Given the description of an element on the screen output the (x, y) to click on. 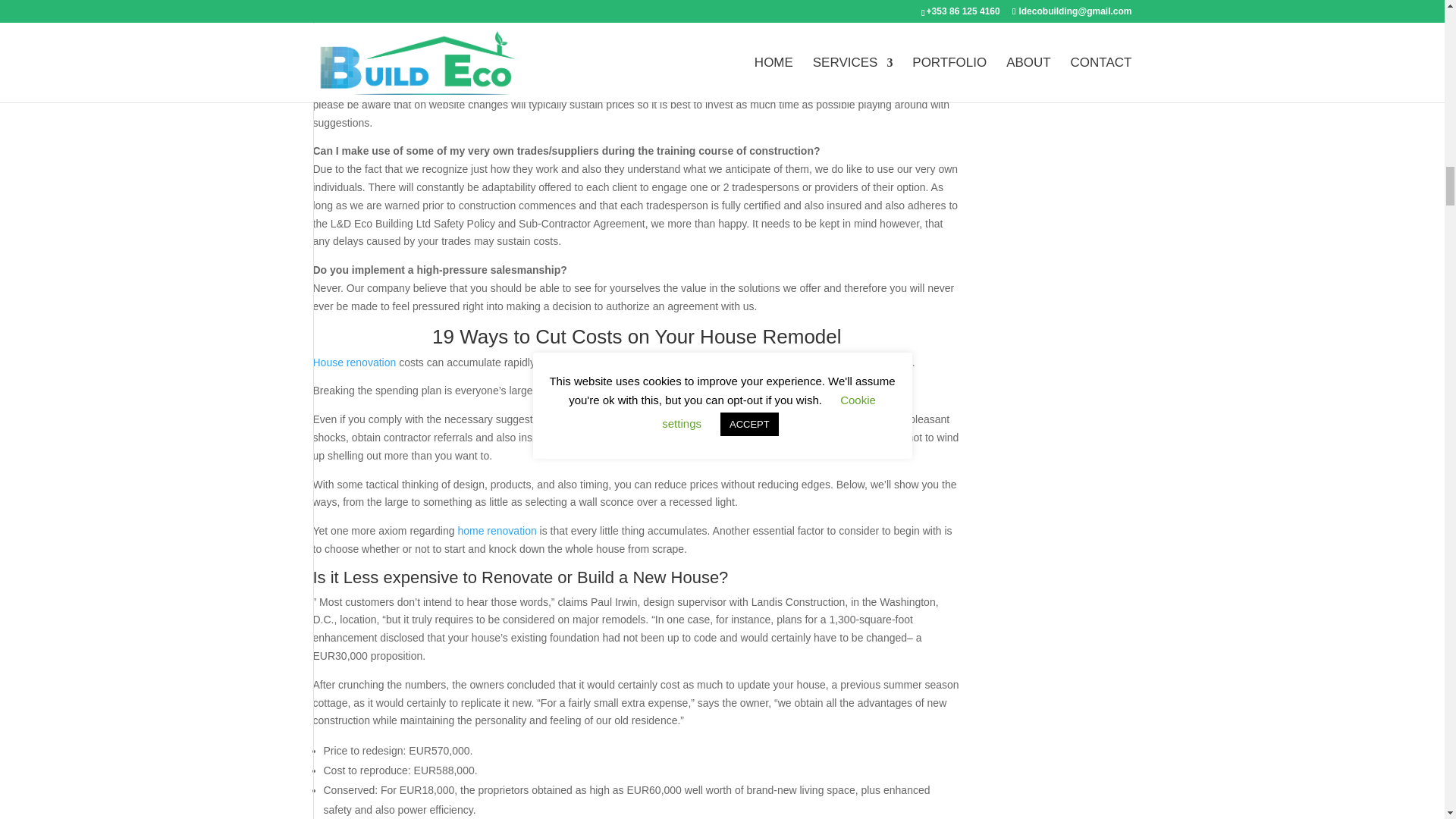
home renovation (496, 530)
House renovation (354, 362)
